Given the description of an element on the screen output the (x, y) to click on. 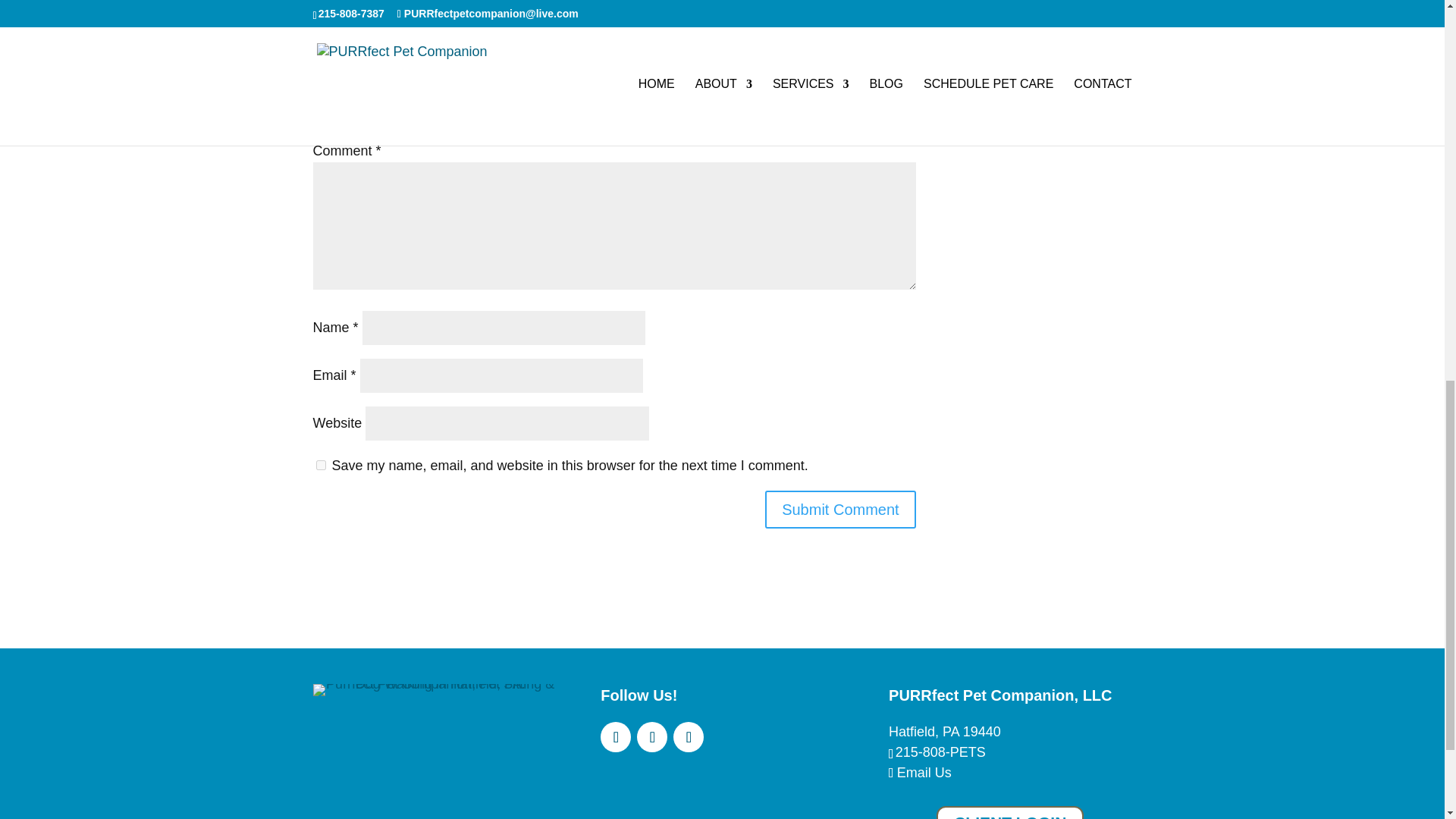
Submit Comment (840, 509)
yes (319, 465)
Follow on Facebook (614, 736)
Follow on Google (687, 736)
Follow on Yelp (651, 736)
Purrfect-Pet-Companion (433, 689)
Submit Comment (840, 509)
